Given the description of an element on the screen output the (x, y) to click on. 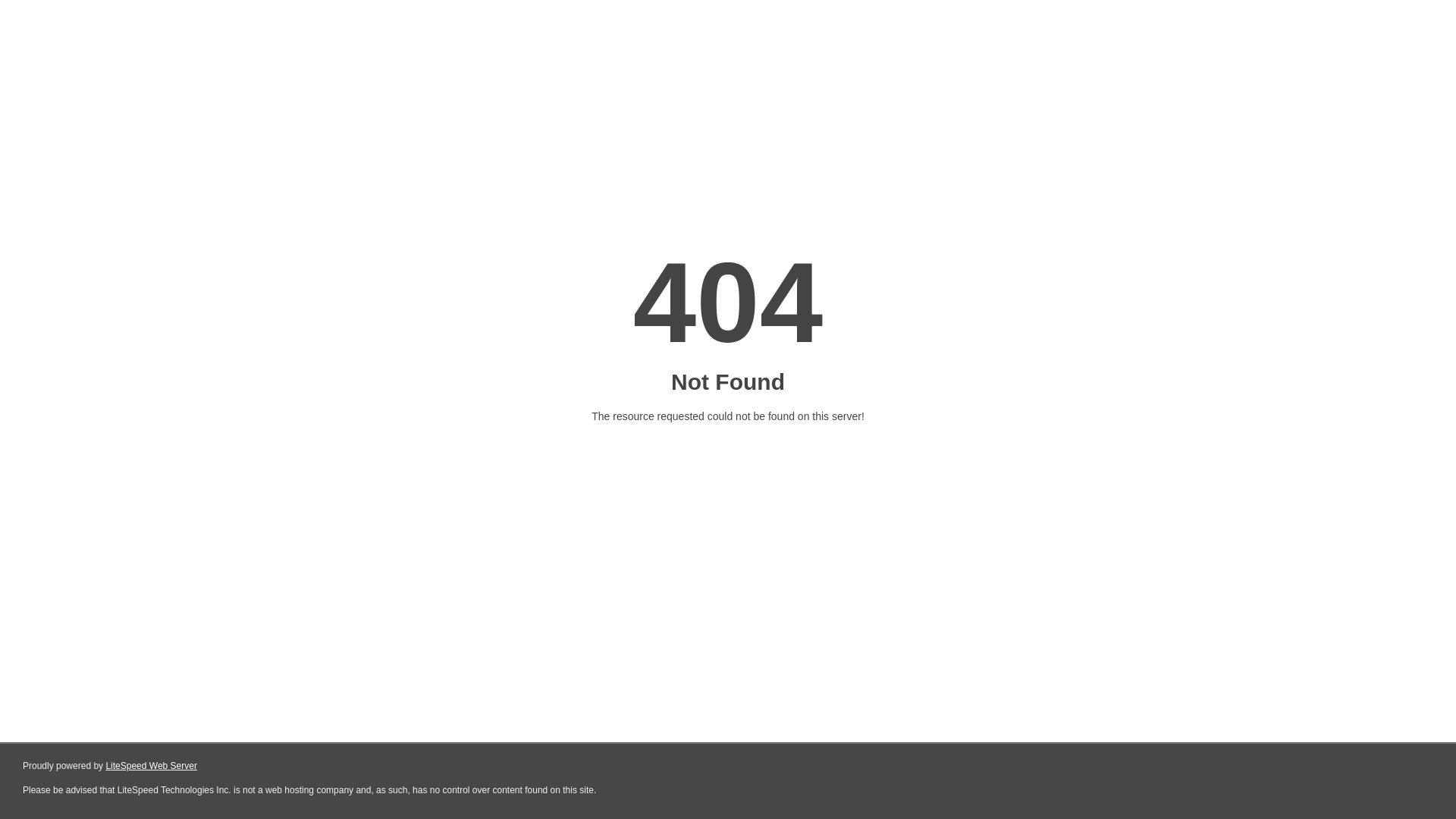
LiteSpeed Web Server Element type: text (151, 765)
